Given the description of an element on the screen output the (x, y) to click on. 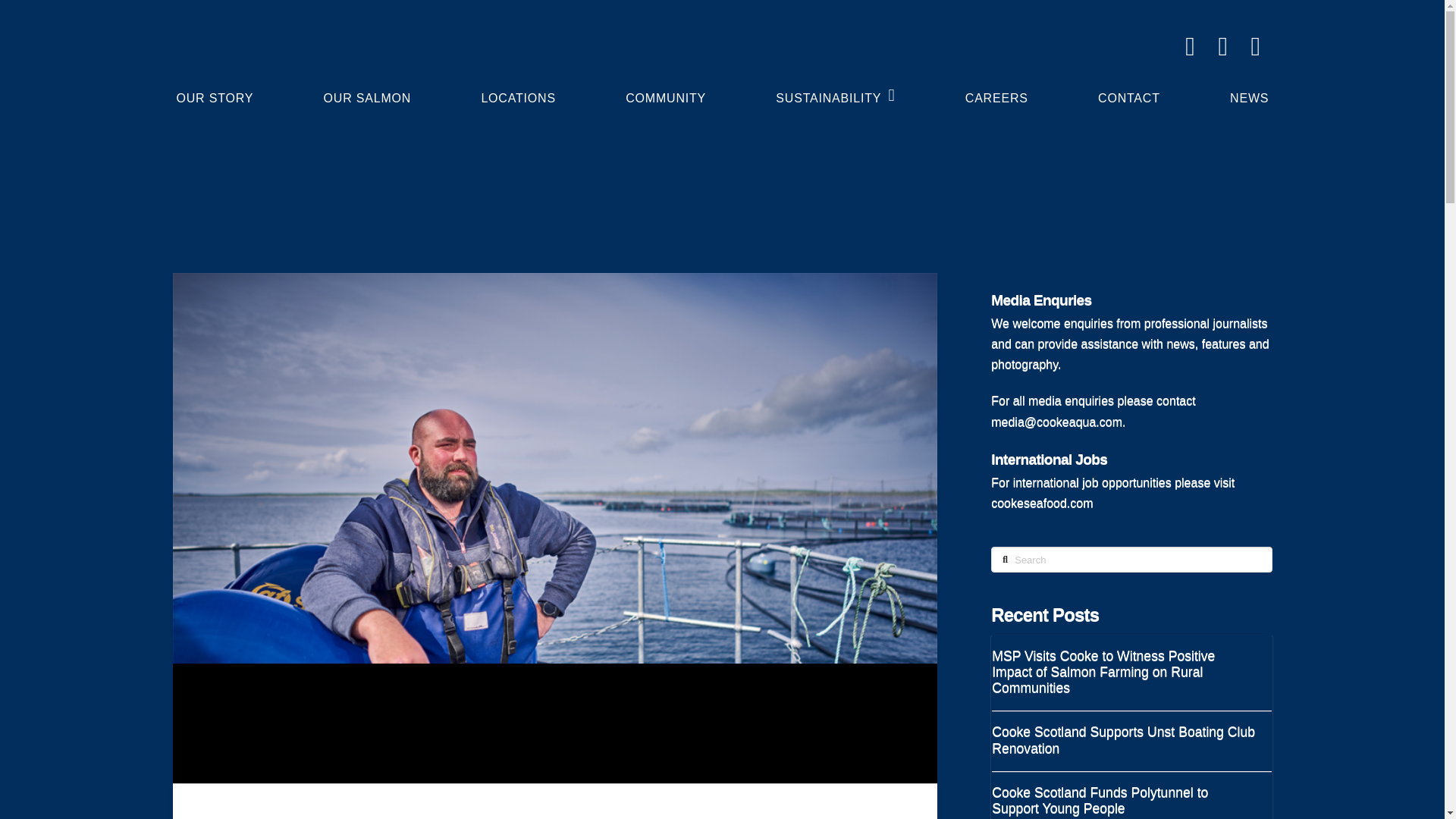
Cooke Scotland Supports Unst Boating Club Renovation (1124, 739)
OUR STORY (215, 93)
cookeseafood.com (1042, 502)
COMMUNITY (665, 93)
LOCATIONS (518, 93)
CONTACT (1128, 93)
CAREERS (995, 93)
SUSTAINABILITY (834, 93)
Cooke Scotland Funds Polytunnel to Support Young People (1124, 800)
